Given the description of an element on the screen output the (x, y) to click on. 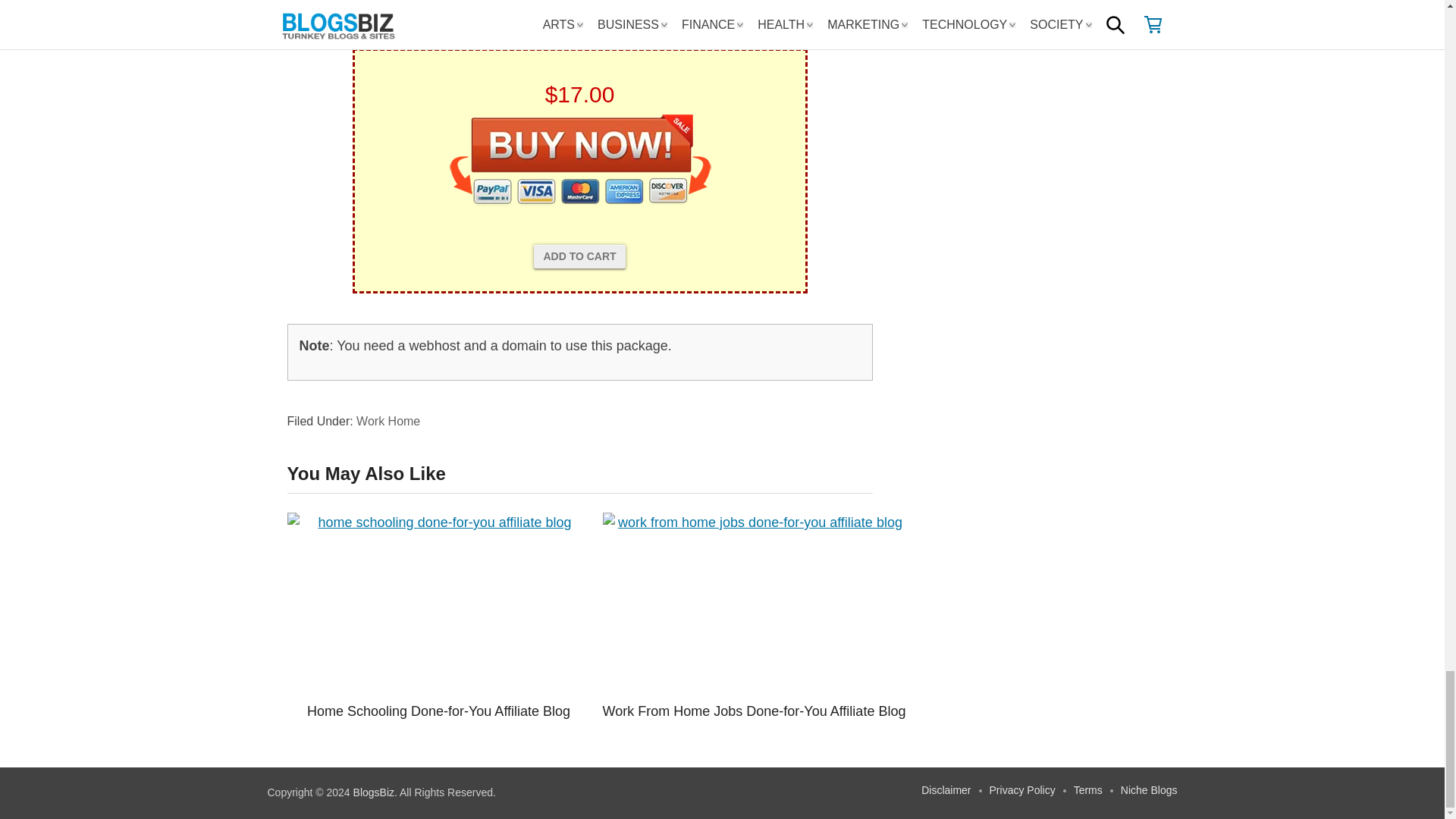
Home Schooling Done-for-You Affiliate Blog (437, 603)
Add to Cart (579, 255)
Work From Home Jobs Done-for-You Affiliate Blog (753, 603)
